Given the description of an element on the screen output the (x, y) to click on. 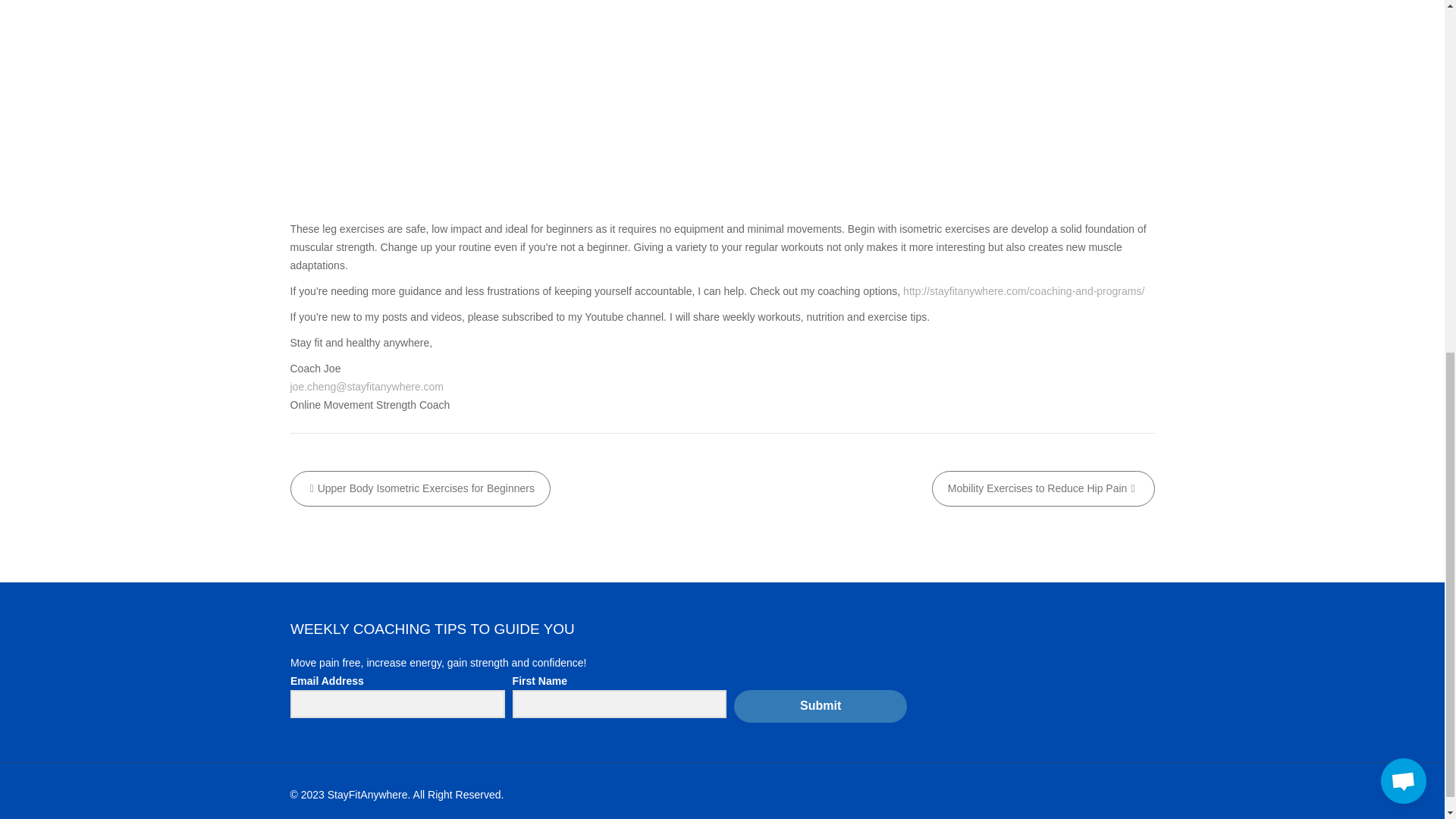
Submit (820, 76)
Mobility Exercises to Reduce Hip Pain (1042, 488)
Upper Body Isometric Exercises for Beginners (419, 488)
